Given the description of an element on the screen output the (x, y) to click on. 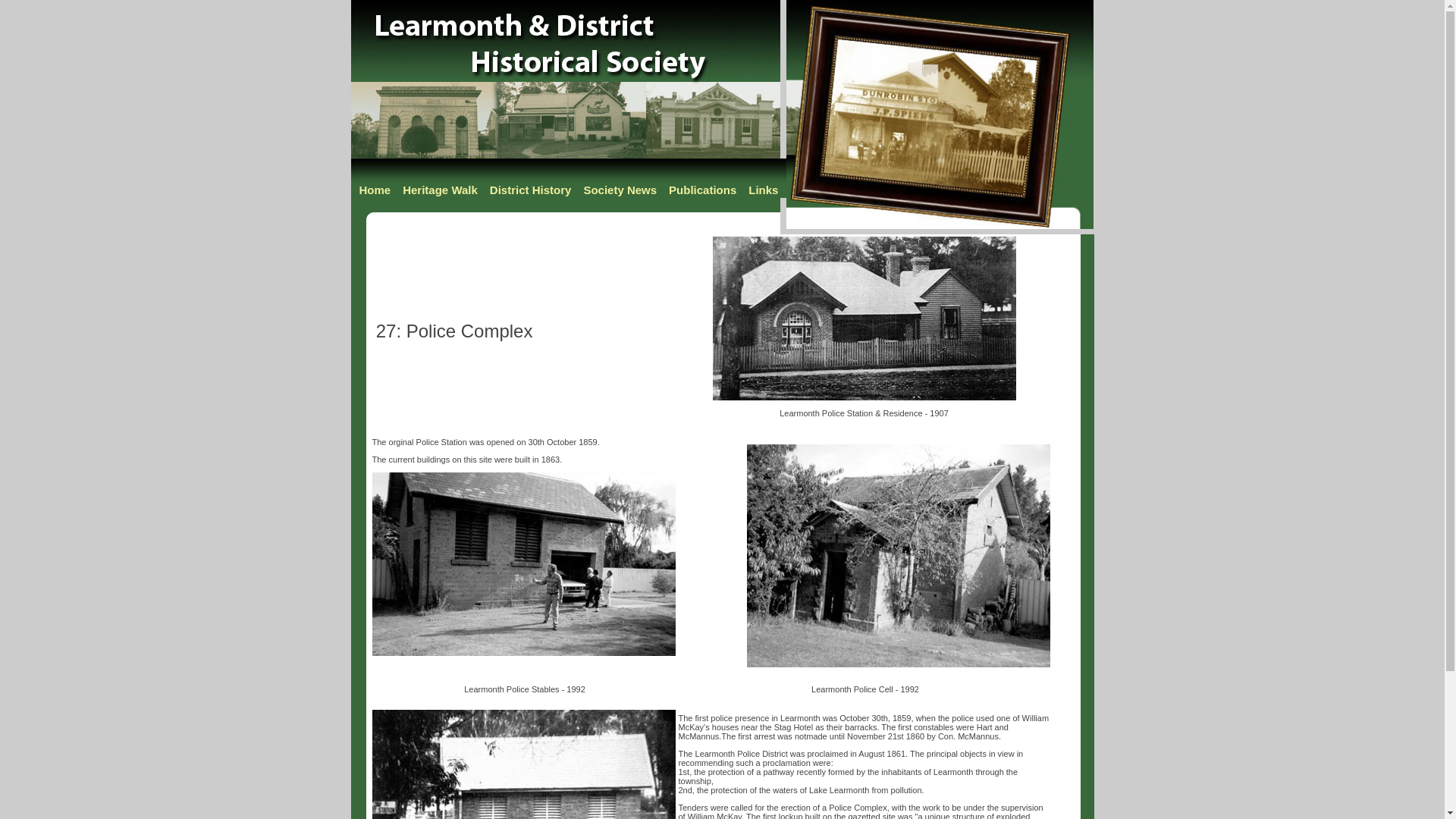
Society News Element type: text (619, 193)
Links Element type: text (763, 193)
District History Element type: text (530, 193)
Home Element type: text (375, 193)
Heritage Walk Element type: text (439, 193)
Publications Element type: text (702, 193)
